Given the description of an element on the screen output the (x, y) to click on. 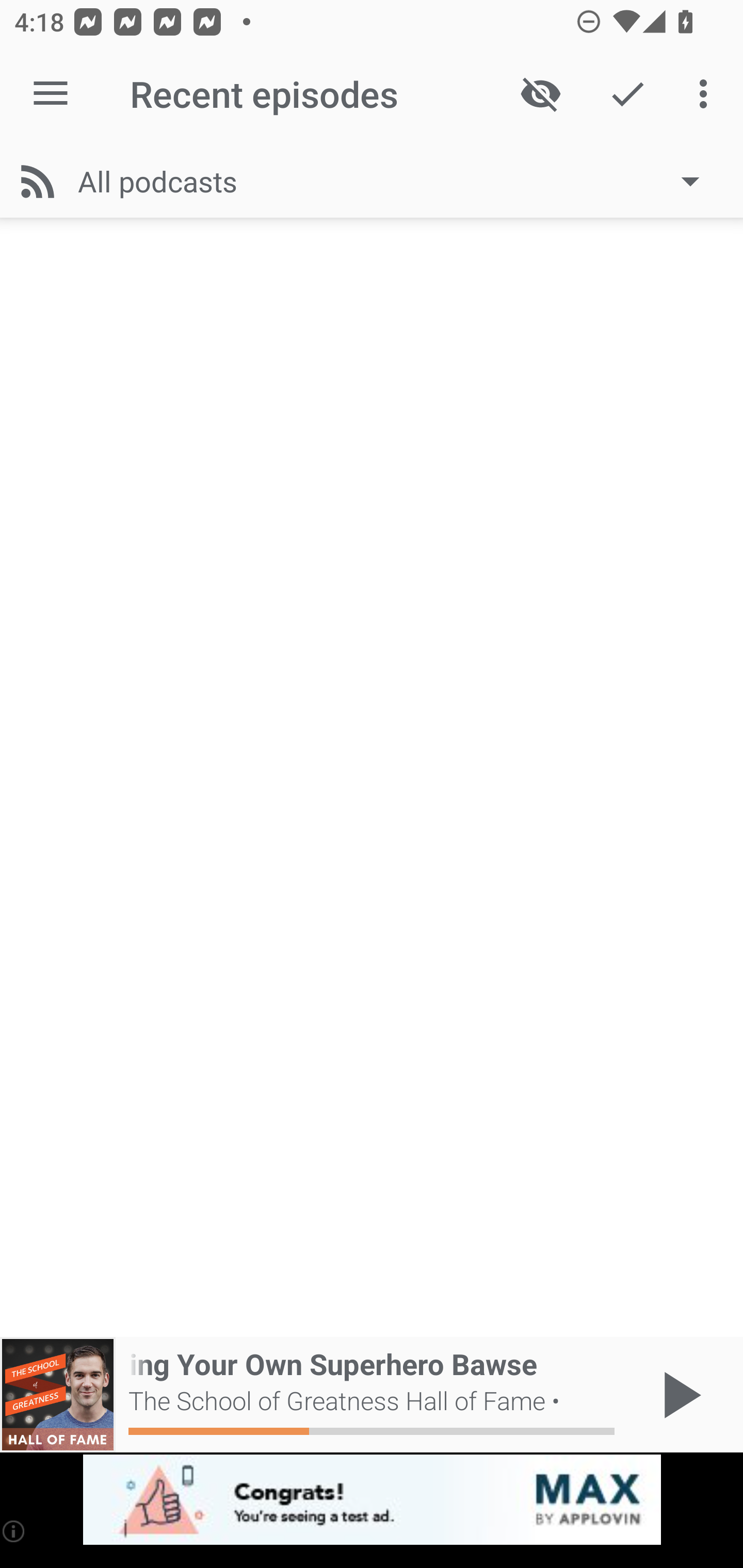
Open navigation sidebar (50, 93)
Show / Hide played content (540, 93)
Action Mode (626, 93)
More options (706, 93)
All podcasts (398, 180)
Play / Pause (677, 1394)
app-monetization (371, 1500)
(i) (14, 1531)
